Given the description of an element on the screen output the (x, y) to click on. 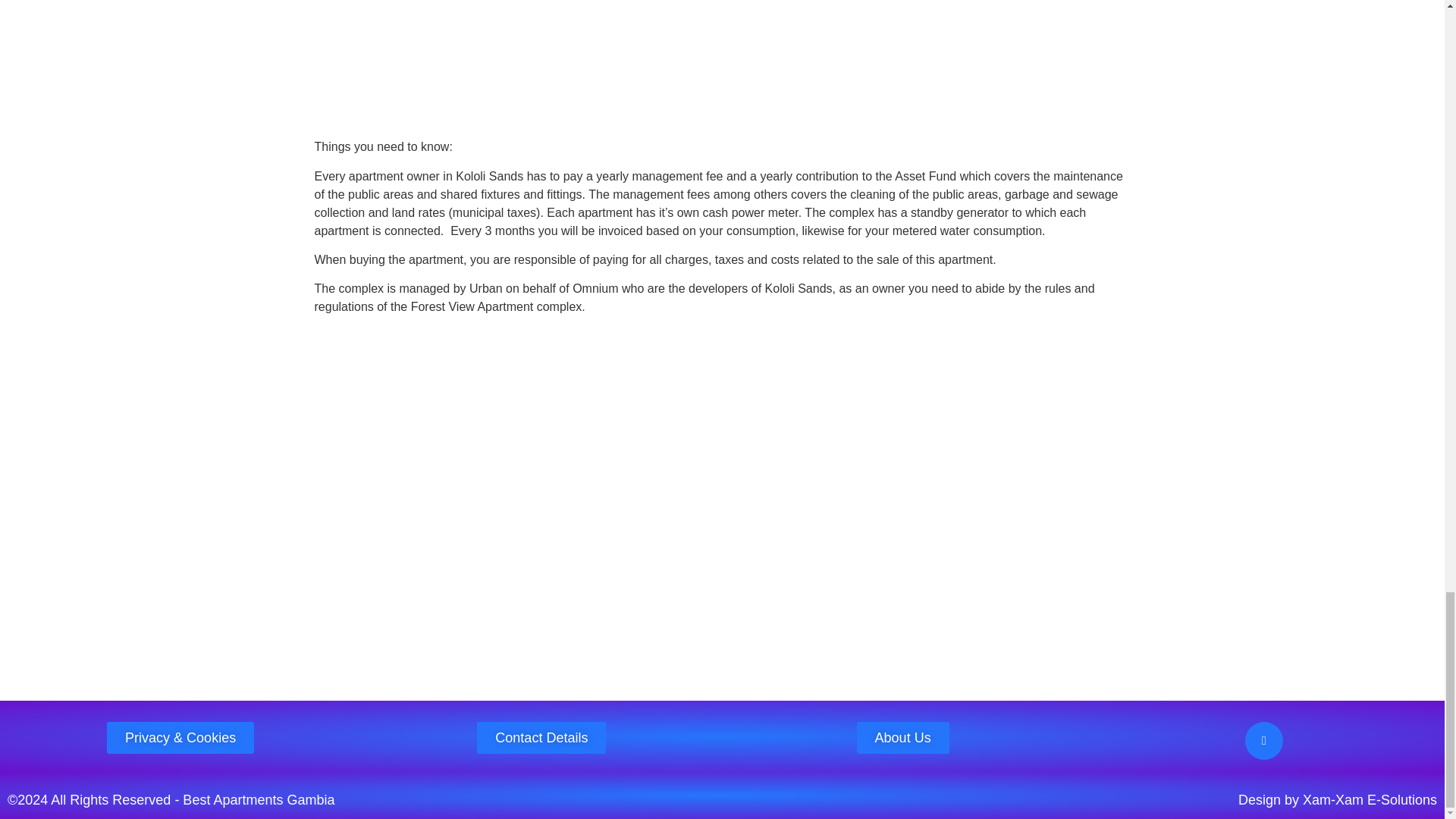
Contact Details (541, 737)
About Us (903, 737)
Design by Xam-Xam E-Solutions (1338, 799)
